Given the description of an element on the screen output the (x, y) to click on. 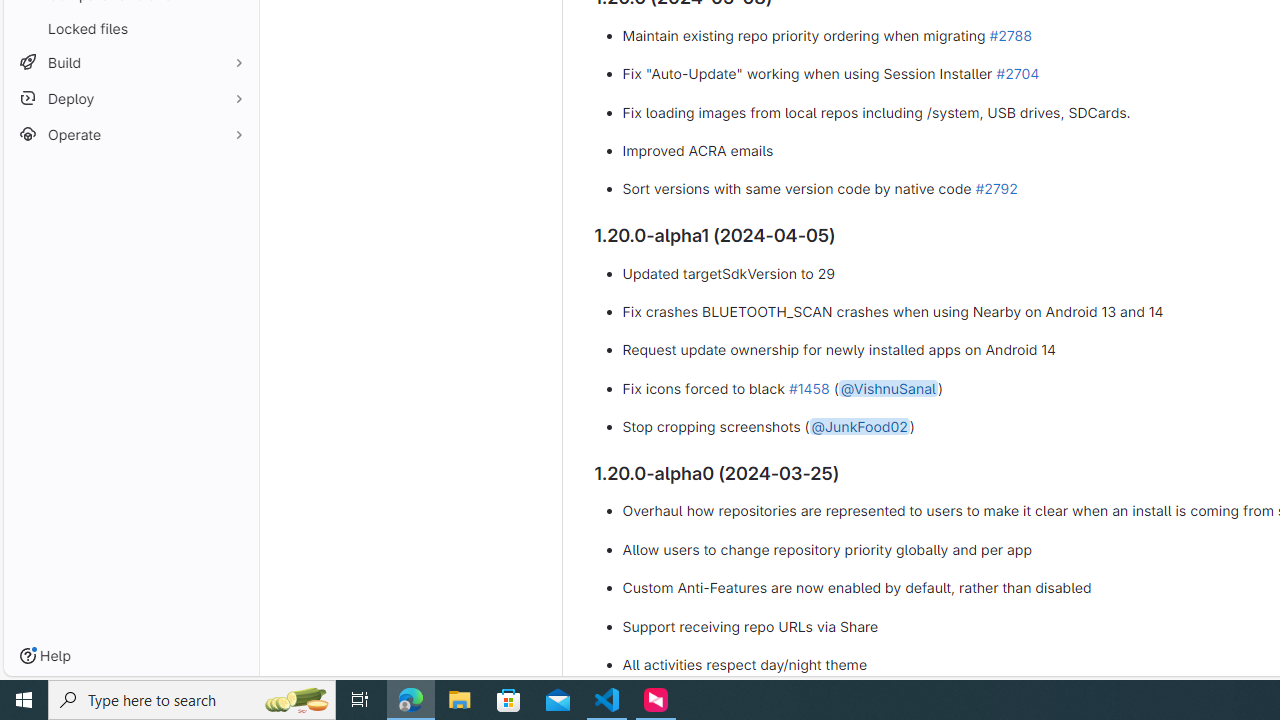
Build (130, 62)
#2704 (1017, 73)
Operate (130, 134)
Deploy (130, 98)
Operate (130, 134)
Locked files (130, 28)
#2788 (1010, 34)
@JunkFood02 (859, 427)
Deploy (130, 98)
Pin Locked files (234, 28)
@VishnuSanal (888, 387)
Locked files (130, 28)
Build (130, 62)
#1458 (808, 387)
